Given the description of an element on the screen output the (x, y) to click on. 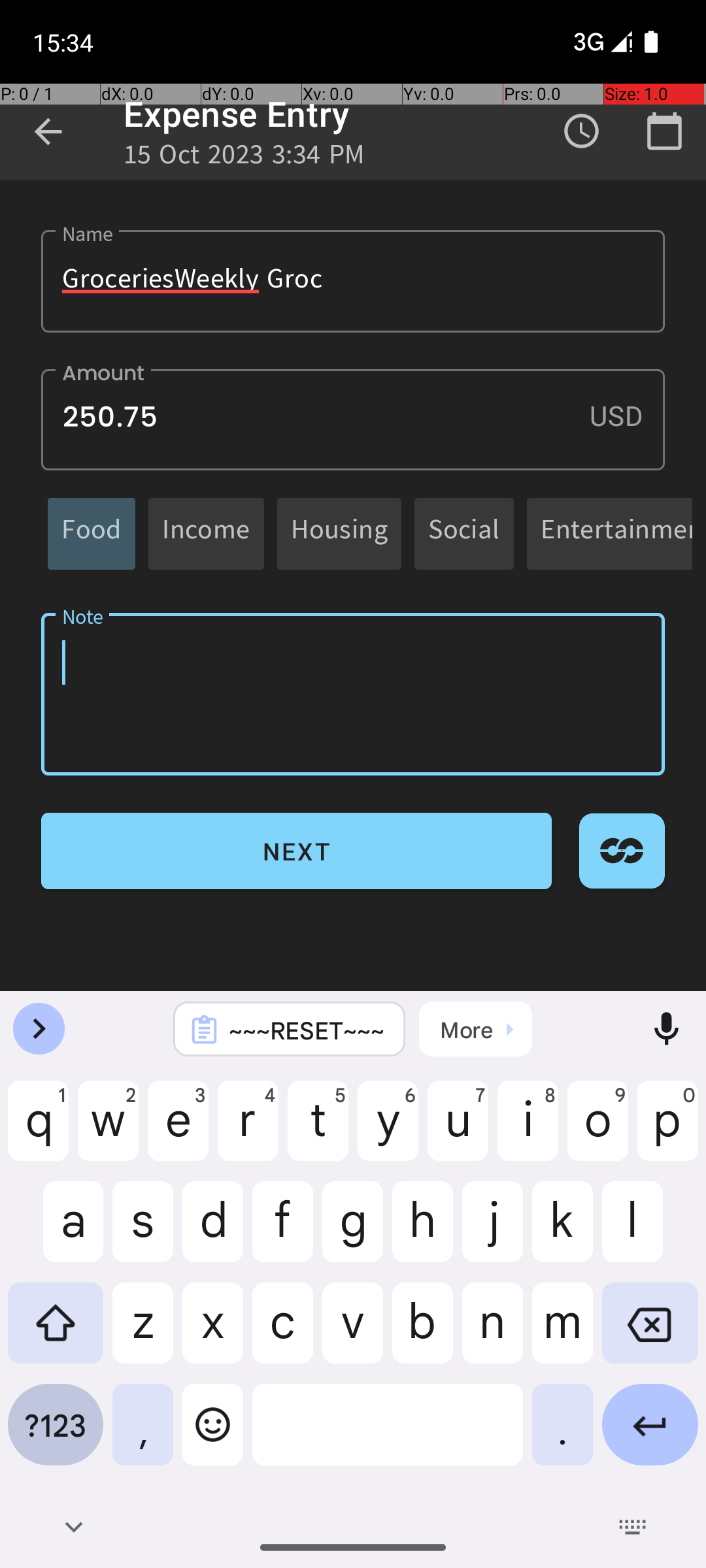
GroceriesWeekly Groc Element type: android.widget.EditText (352, 280)
250.75 Element type: android.widget.EditText (352, 419)
NEXT Element type: android.widget.Button (296, 850)
Click to open Clipboard Element type: android.view.ViewGroup (475, 1028)
~~~RESET~~~ Element type: android.widget.TextView (306, 1029)
